Given the description of an element on the screen output the (x, y) to click on. 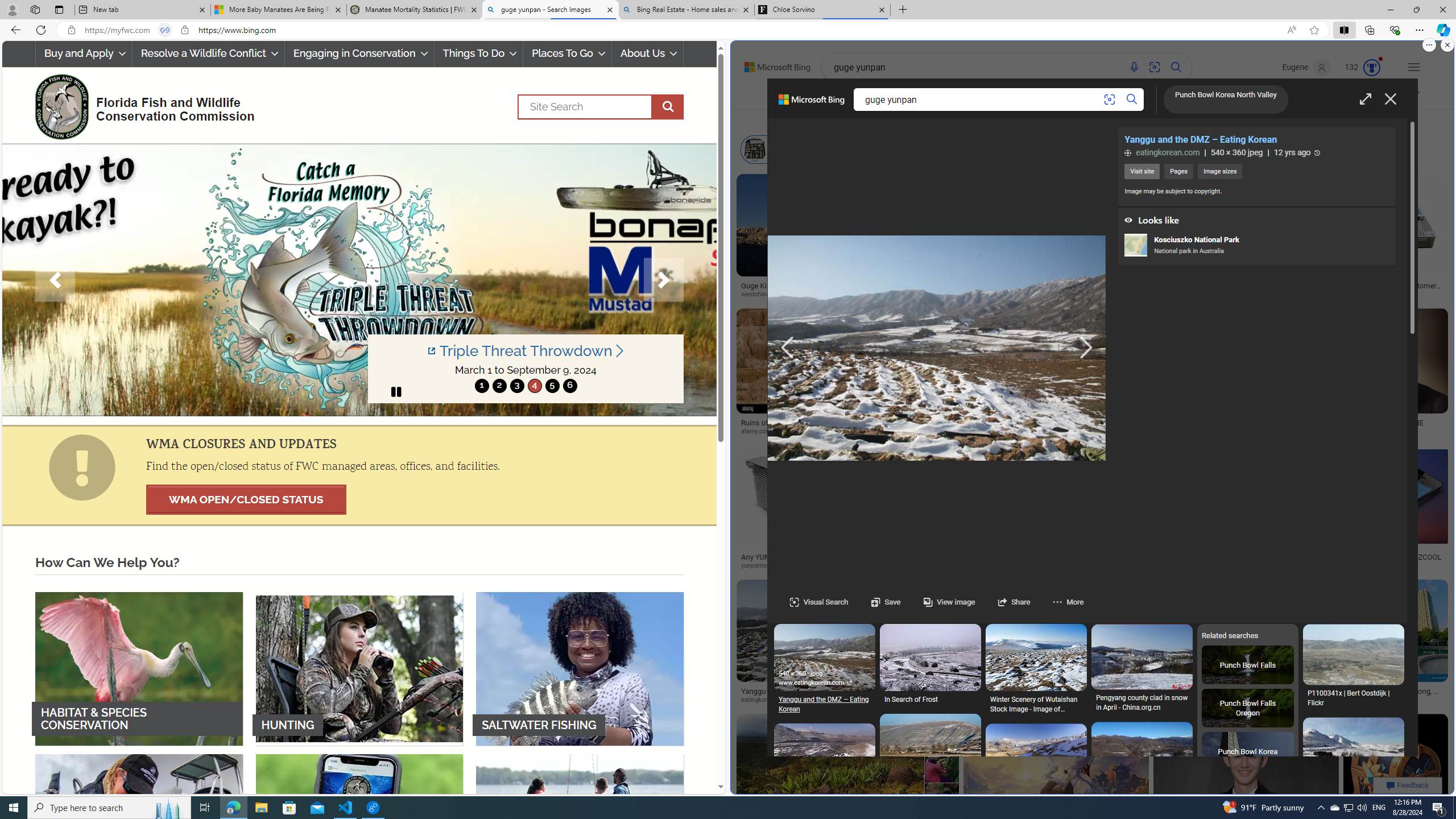
www.eatingkorean.com (823, 682)
Share (1013, 601)
Eugene (1305, 67)
Class: b_pri_nav_svg (1043, 97)
dreamstime.com (1031, 699)
ebth.com (976, 565)
yunpantelecom.com (773, 565)
Previous (54, 279)
View image (937, 601)
move to slide 2 (499, 385)
